Given the description of an element on the screen output the (x, y) to click on. 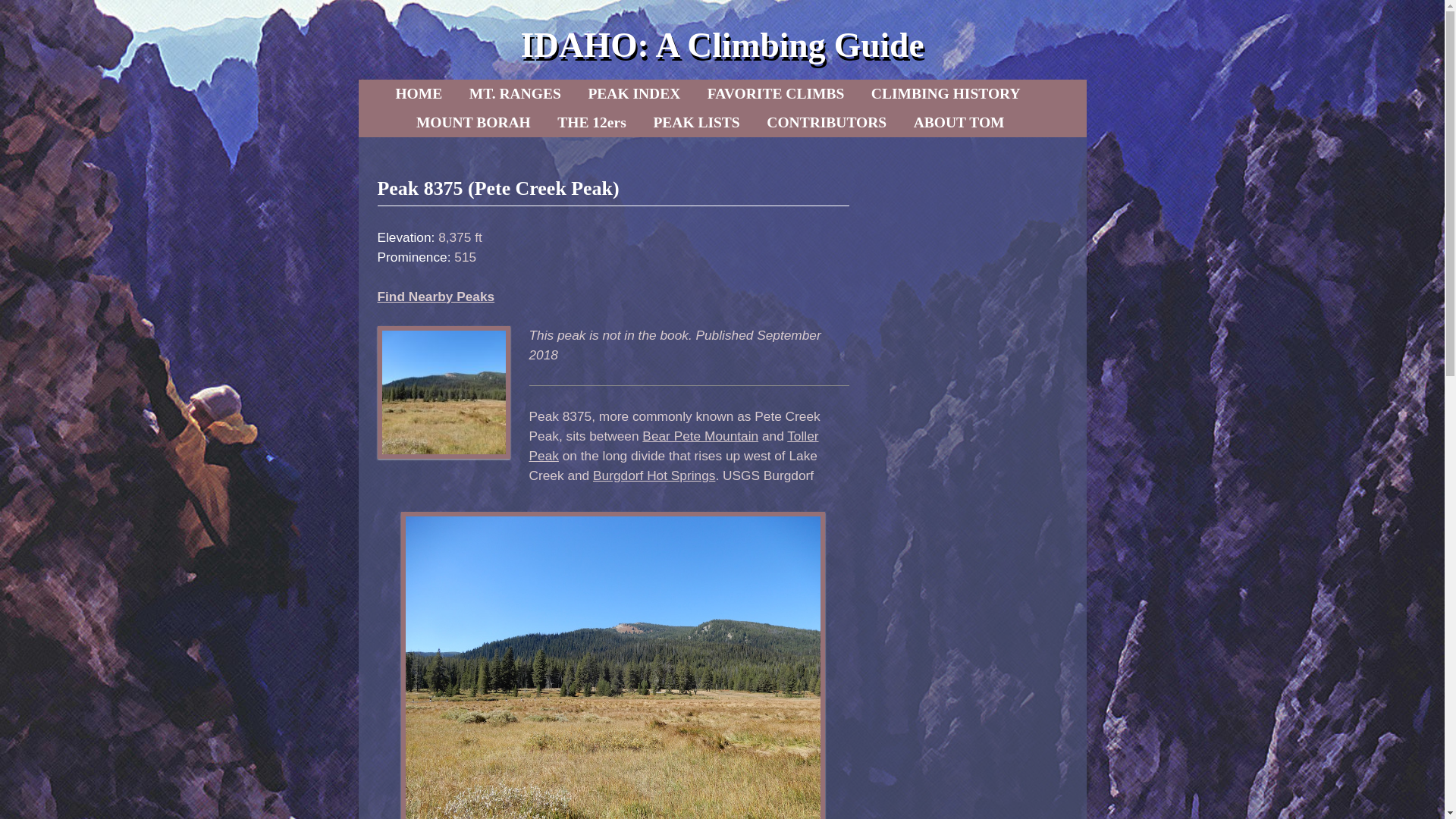
Skip to primary content (457, 93)
PEAK LISTS (695, 122)
Find Nearby Peaks (436, 296)
PEAK INDEX (633, 93)
Bear Pete Mountain (700, 435)
Toller Peak (673, 445)
ABOUT TOM (958, 122)
MOUNT BORAH (473, 122)
HOME (418, 93)
Burgdorf Hot Springs (653, 475)
